Given the description of an element on the screen output the (x, y) to click on. 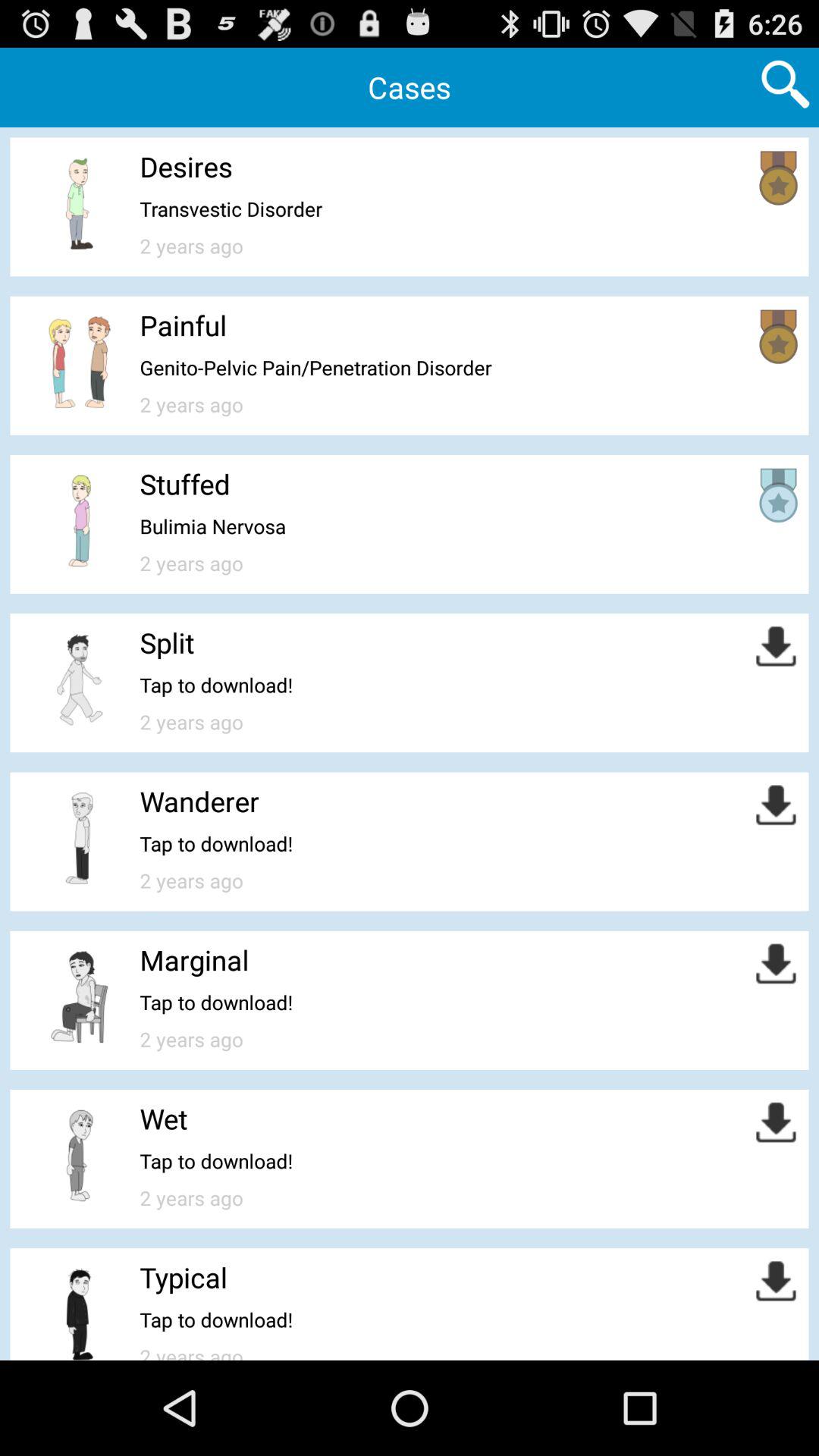
turn on genito pelvic pain item (315, 367)
